Given the description of an element on the screen output the (x, y) to click on. 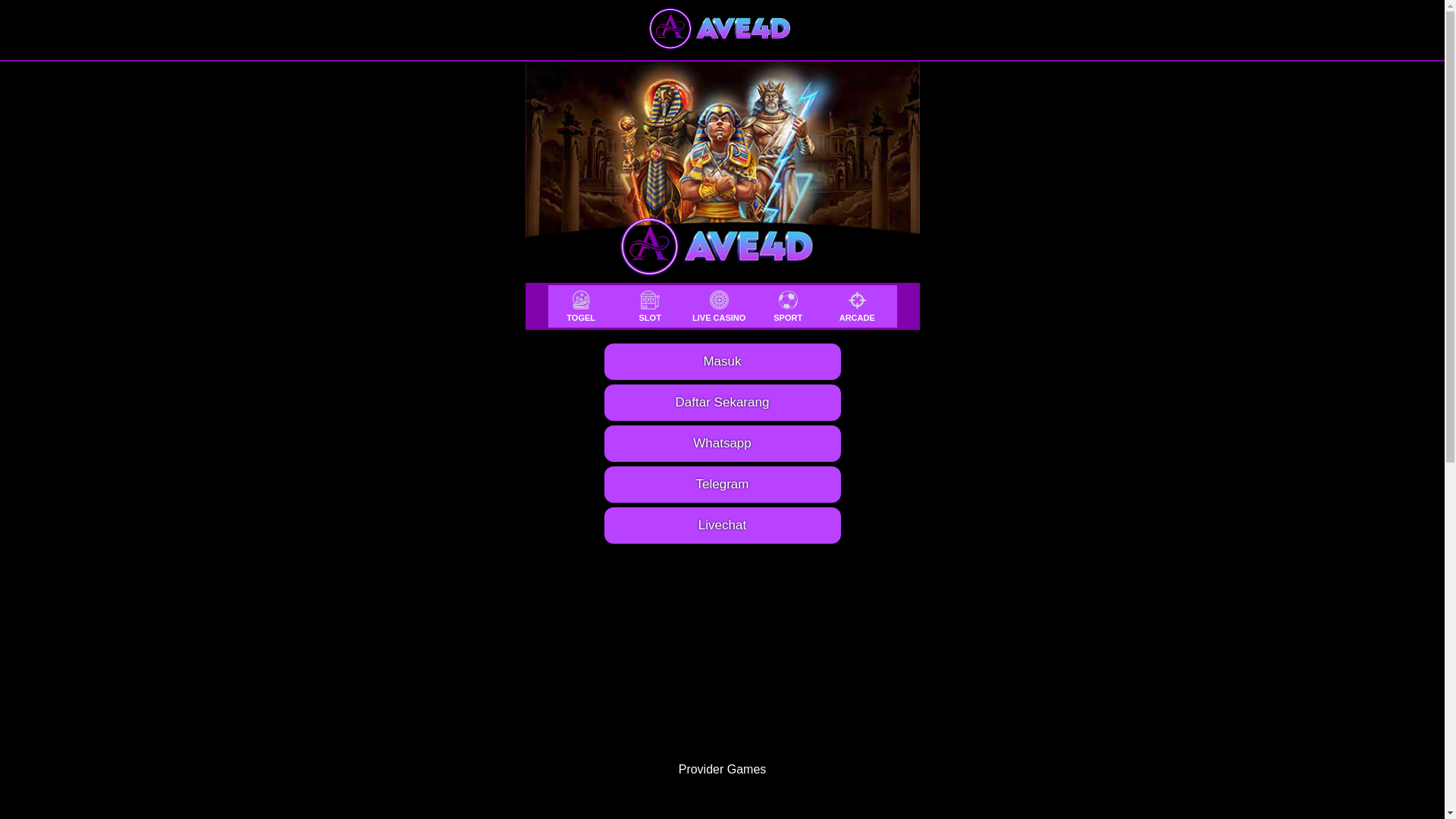
LIVE CASINO Element type: text (719, 306)
TOGEL Element type: text (580, 306)
Daftar Sekarang Element type: text (721, 402)
ARCADE Element type: text (857, 306)
SPORT Element type: text (788, 306)
SLOT Element type: text (650, 306)
Whatsapp Element type: text (721, 443)
Telegram Element type: text (721, 484)
Livechat Element type: text (721, 525)
Masuk Element type: text (721, 361)
